Given the description of an element on the screen output the (x, y) to click on. 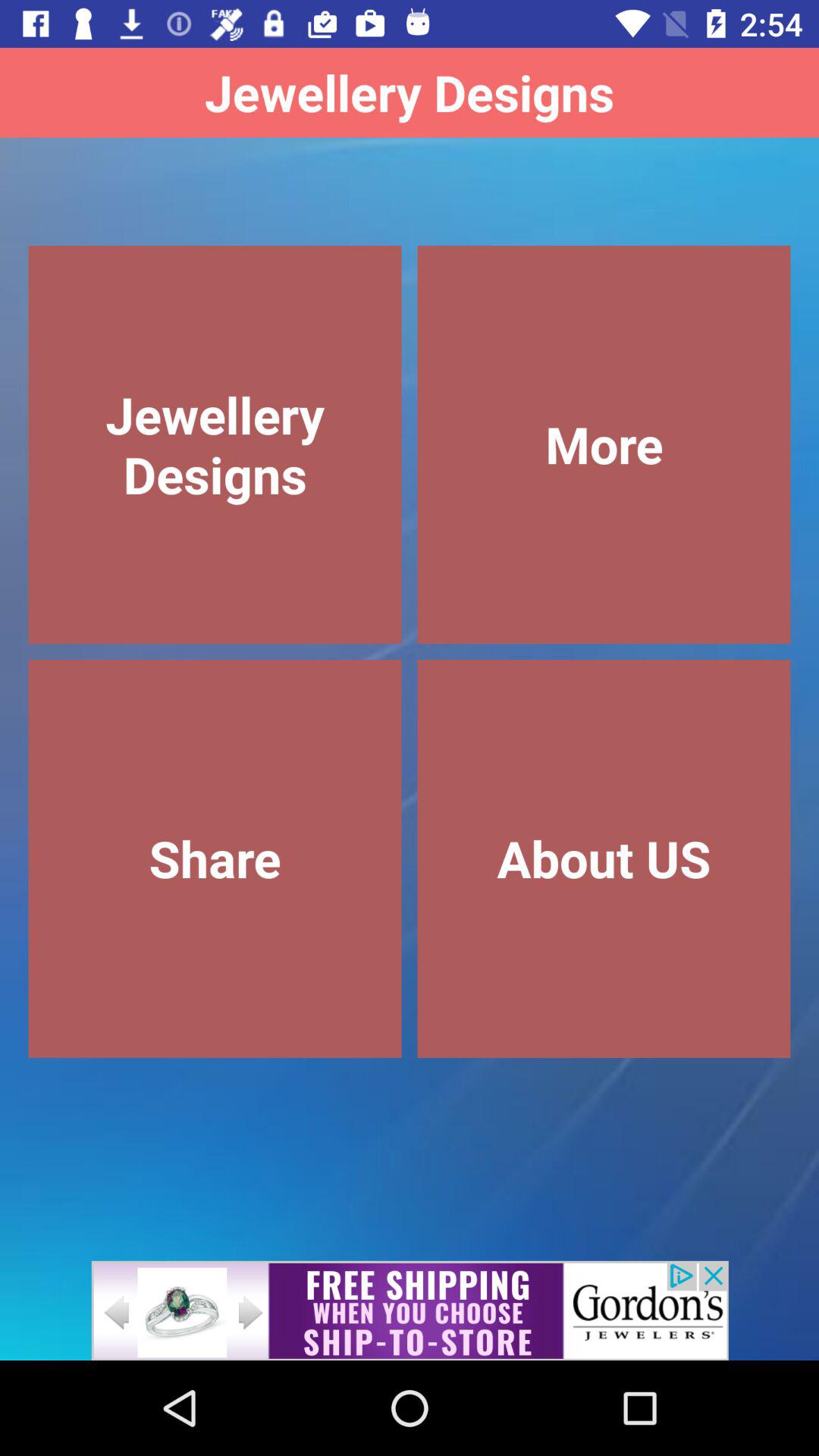
visit gordon 's jewelers (409, 1310)
